Given the description of an element on the screen output the (x, y) to click on. 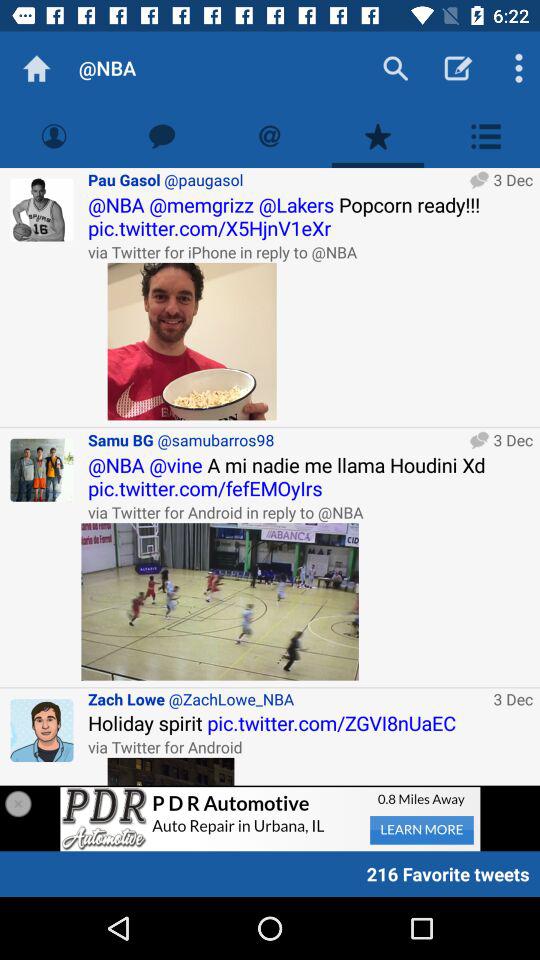
messages (162, 136)
